Given the description of an element on the screen output the (x, y) to click on. 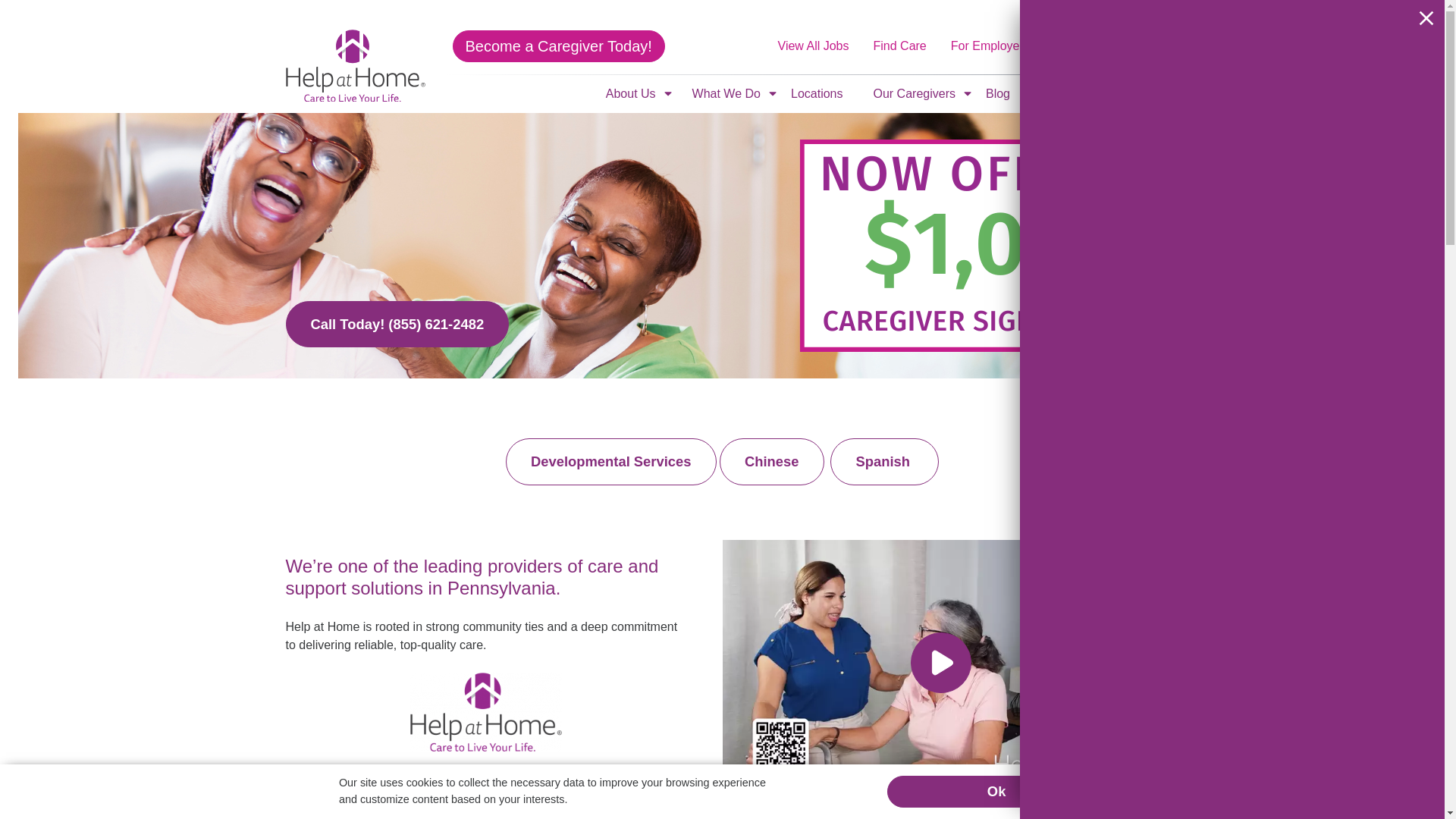
Chinese (771, 461)
Toggle Submenu (667, 92)
Developmental Services (631, 93)
Toggle Submenu (610, 461)
Submenu (772, 92)
Spanish  (772, 92)
Submenu (884, 461)
Submenu (667, 92)
Our Caregivers (813, 46)
Find Care (967, 92)
Open the search input field (913, 93)
Home (900, 46)
Toggle Submenu (1143, 46)
